Given the description of an element on the screen output the (x, y) to click on. 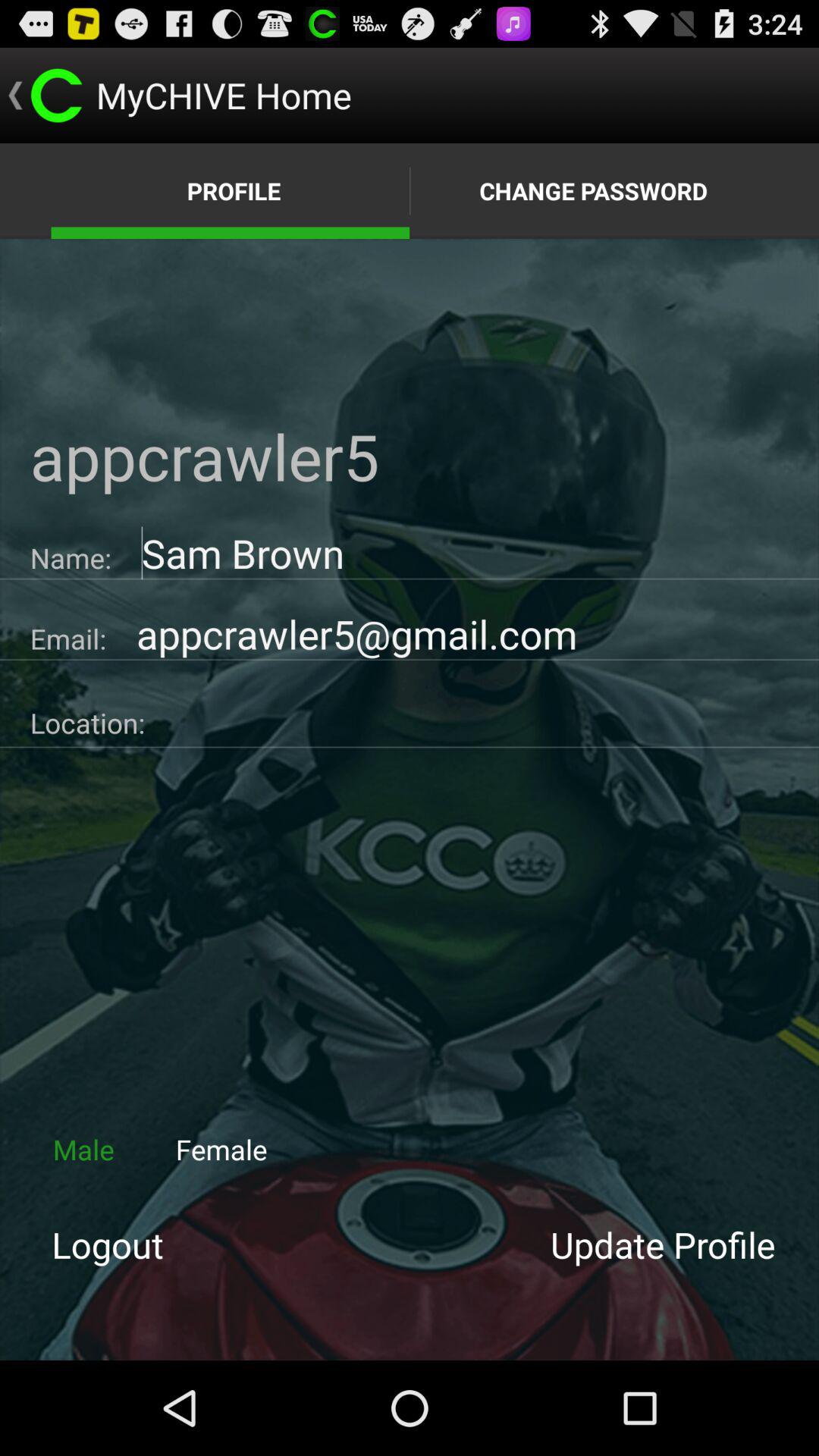
add location (482, 717)
